Given the description of an element on the screen output the (x, y) to click on. 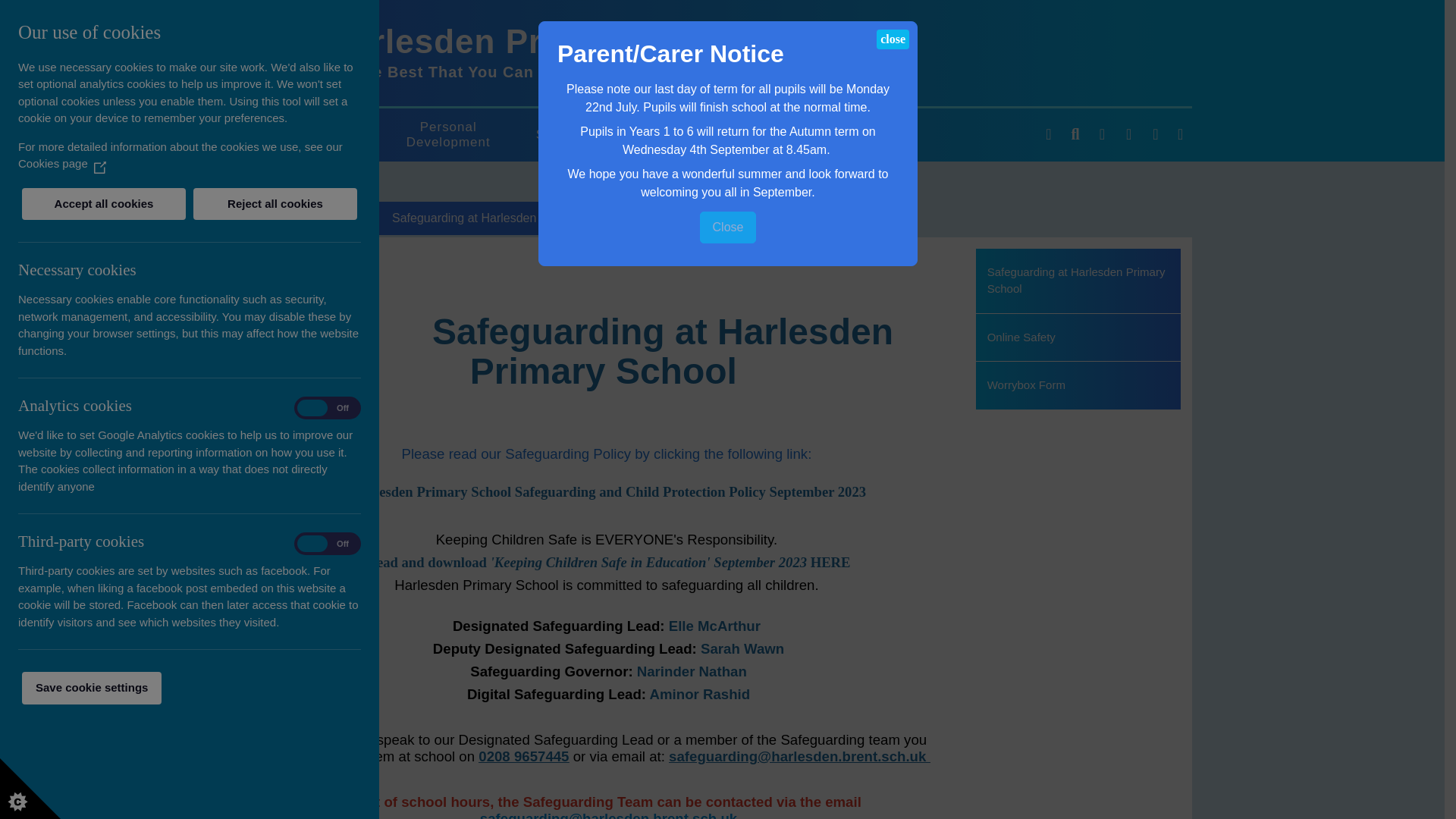
Twitter (1180, 134)
Harlesden Primary School  - Be The Best That You Can Be! (266, 52)
Safeguarding (578, 134)
Personal Development (447, 134)
Learning (708, 134)
on (327, 543)
on (327, 407)
Our School (316, 134)
Cookie Control Icon (30, 788)
